Given the description of an element on the screen output the (x, y) to click on. 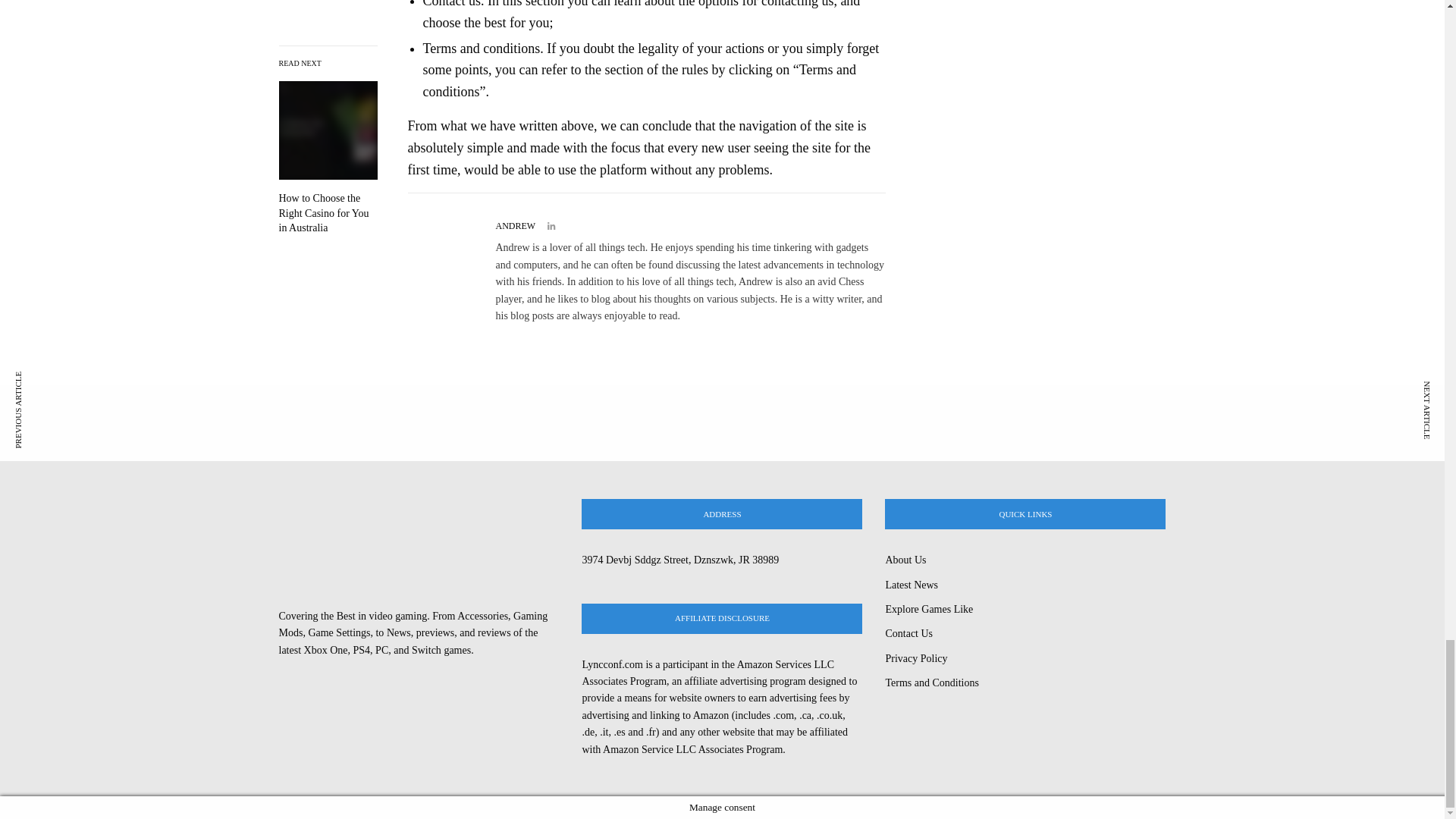
ANDREW (515, 225)
